Given the description of an element on the screen output the (x, y) to click on. 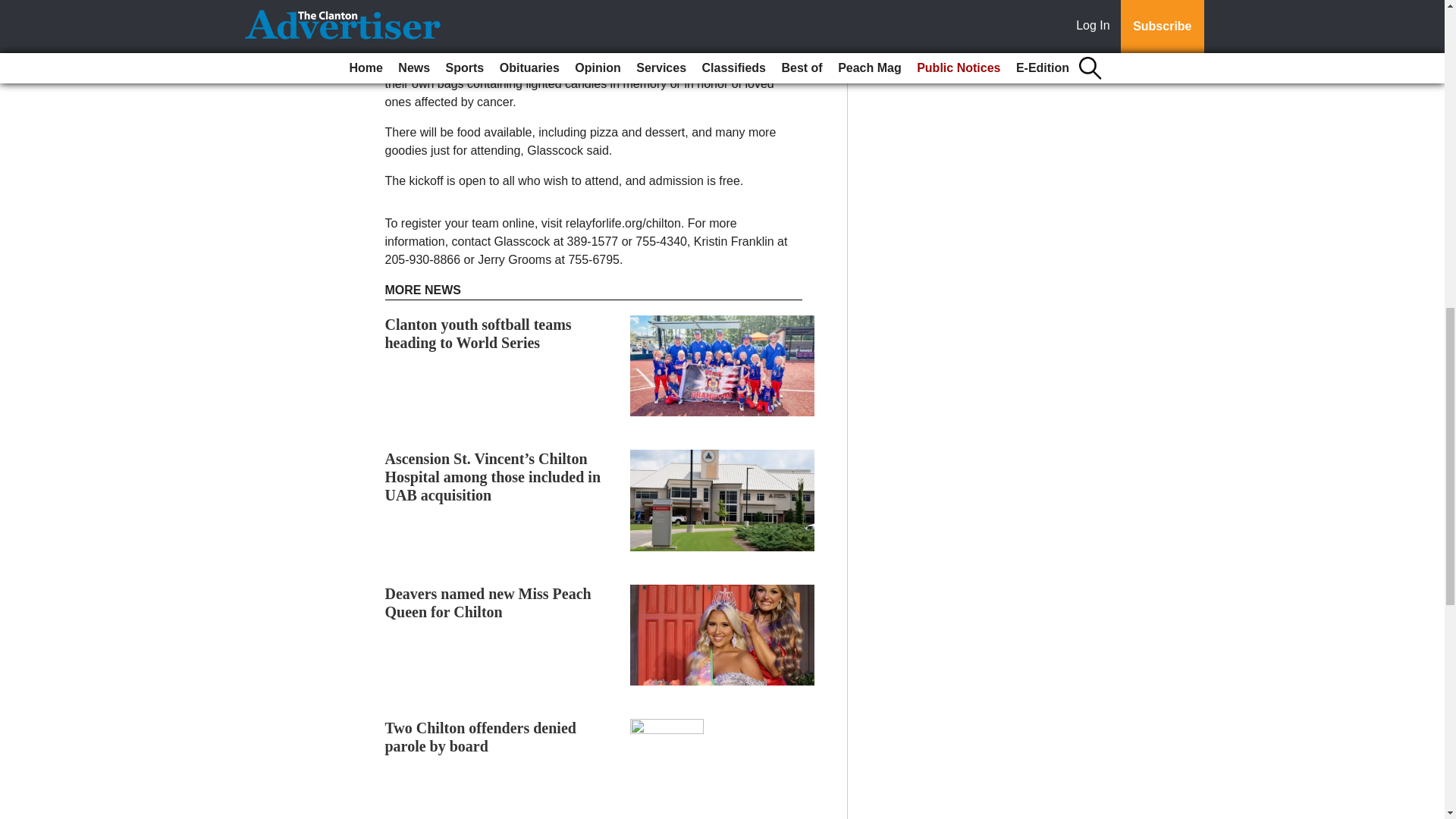
Deavers named new Miss Peach Queen for Chilton (488, 602)
Clanton youth softball teams heading to World Series (478, 333)
Two Chilton offenders denied parole by board (480, 736)
Deavers named new Miss Peach Queen for Chilton (488, 602)
Two Chilton offenders denied parole by board (480, 736)
Clanton youth softball teams heading to World Series (478, 333)
